Given the description of an element on the screen output the (x, y) to click on. 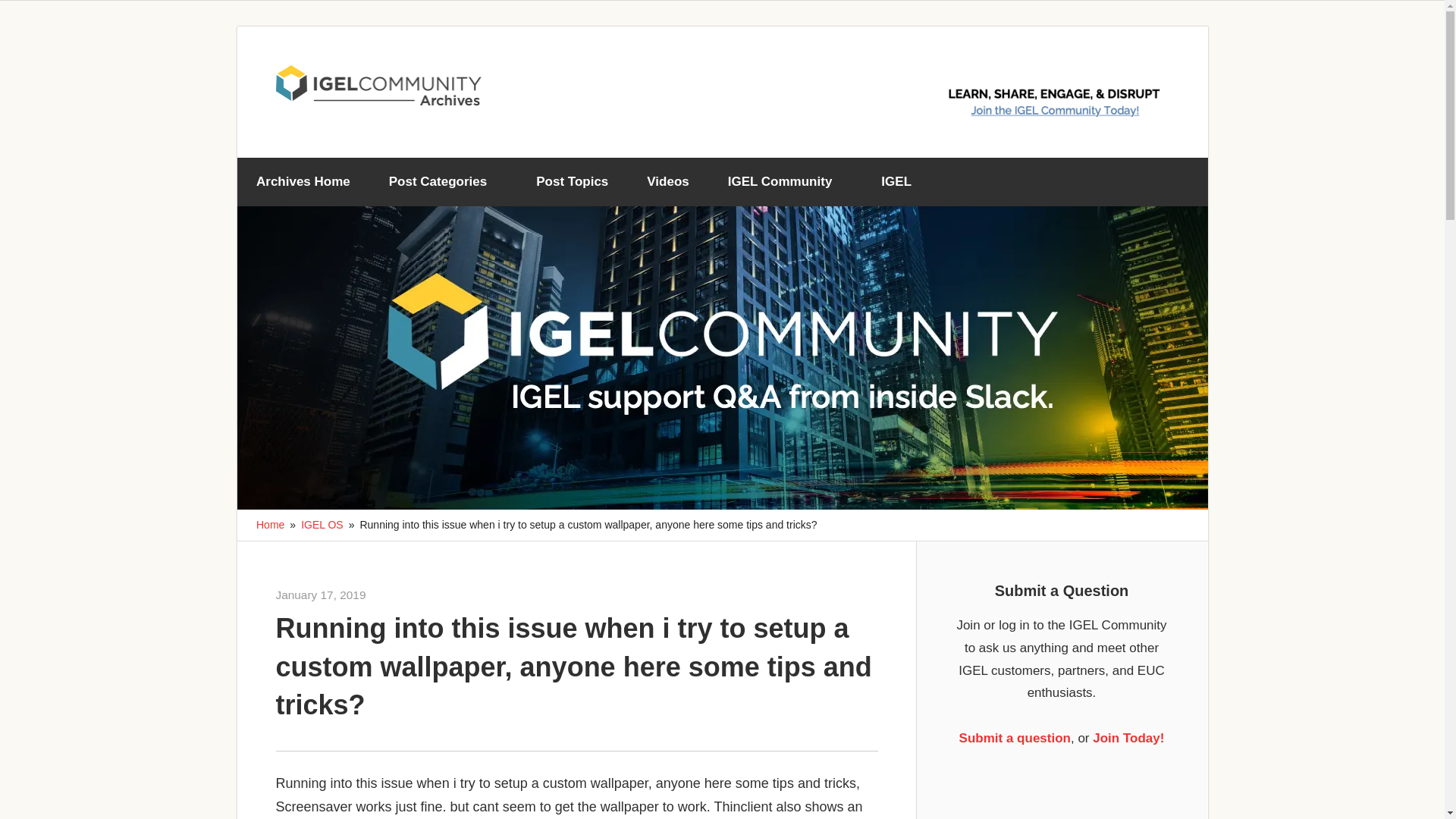
Archives Home (302, 182)
Post Topics (571, 182)
10:48 am (321, 594)
View all posts by IGEL Community Archives (427, 594)
Videos (667, 182)
Home (269, 524)
Post Categories (442, 182)
IGEL Community (784, 182)
IGEL (901, 182)
